Given the description of an element on the screen output the (x, y) to click on. 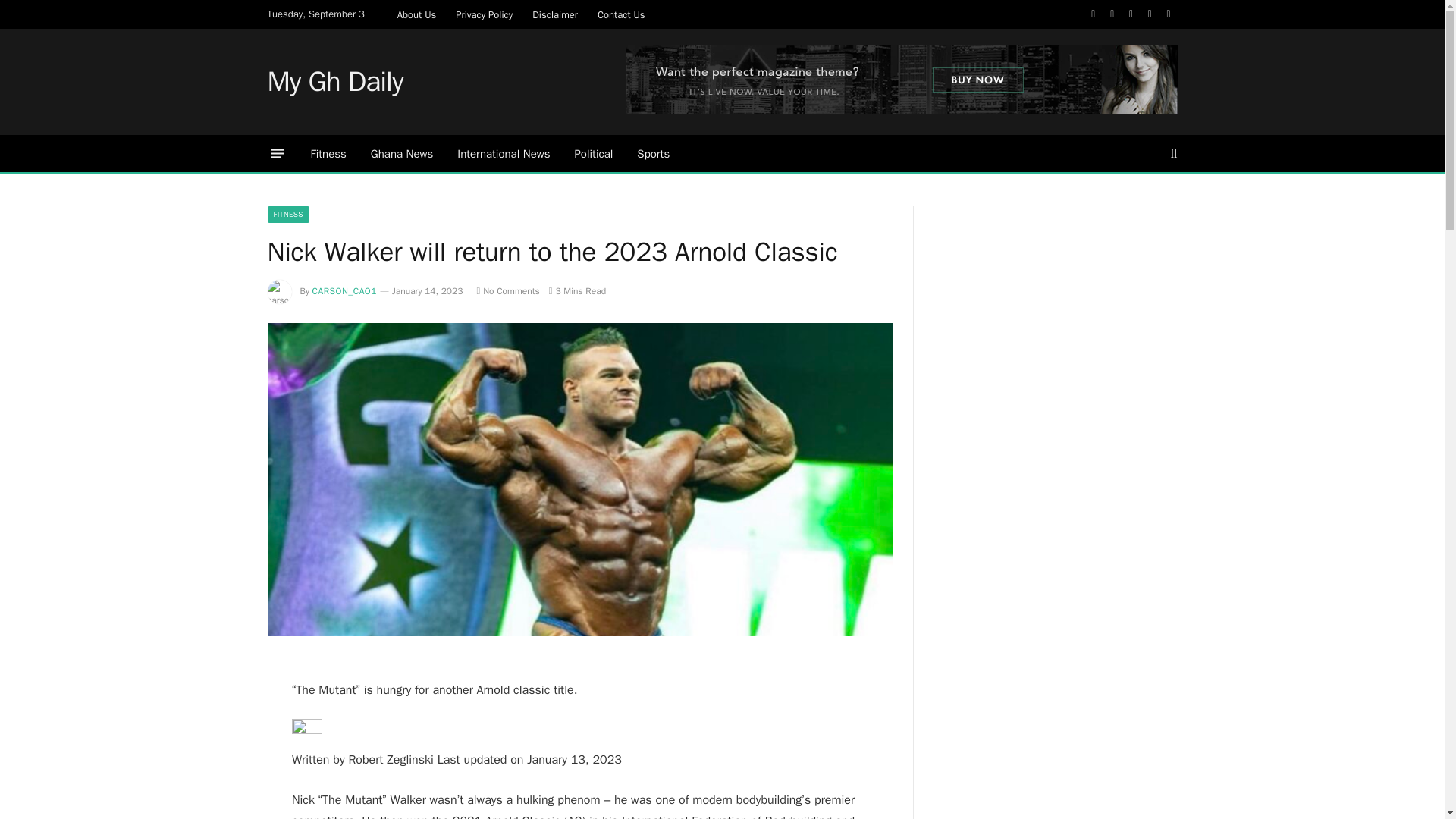
Sports (652, 153)
Contact Us (621, 14)
No Comments (507, 291)
International News (503, 153)
Fitness (328, 153)
Privacy Policy (483, 14)
About Us (416, 14)
Ghana News (401, 153)
My Gh Daily  (334, 81)
